Given the description of an element on the screen output the (x, y) to click on. 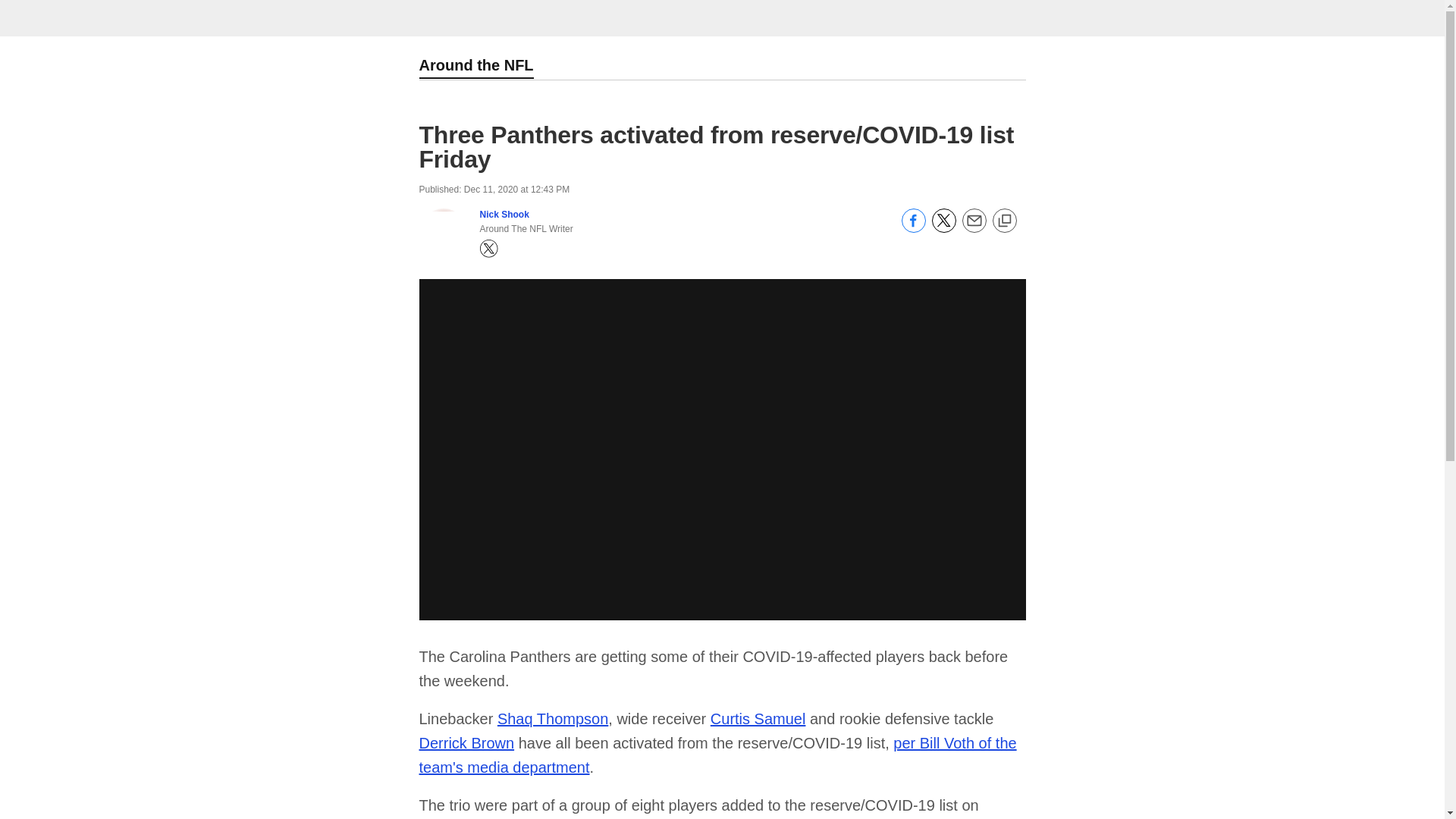
Curtis Samuel (758, 718)
Shaq Thompson (552, 718)
Derrick Brown (466, 742)
Share on Twitter (943, 228)
Copy link (1003, 221)
per Bill Voth of the team's media department (717, 754)
Nick Shook (503, 214)
Derrick Brown (466, 742)
Around the NFL (475, 66)
Share on Facebook (912, 228)
